Given the description of an element on the screen output the (x, y) to click on. 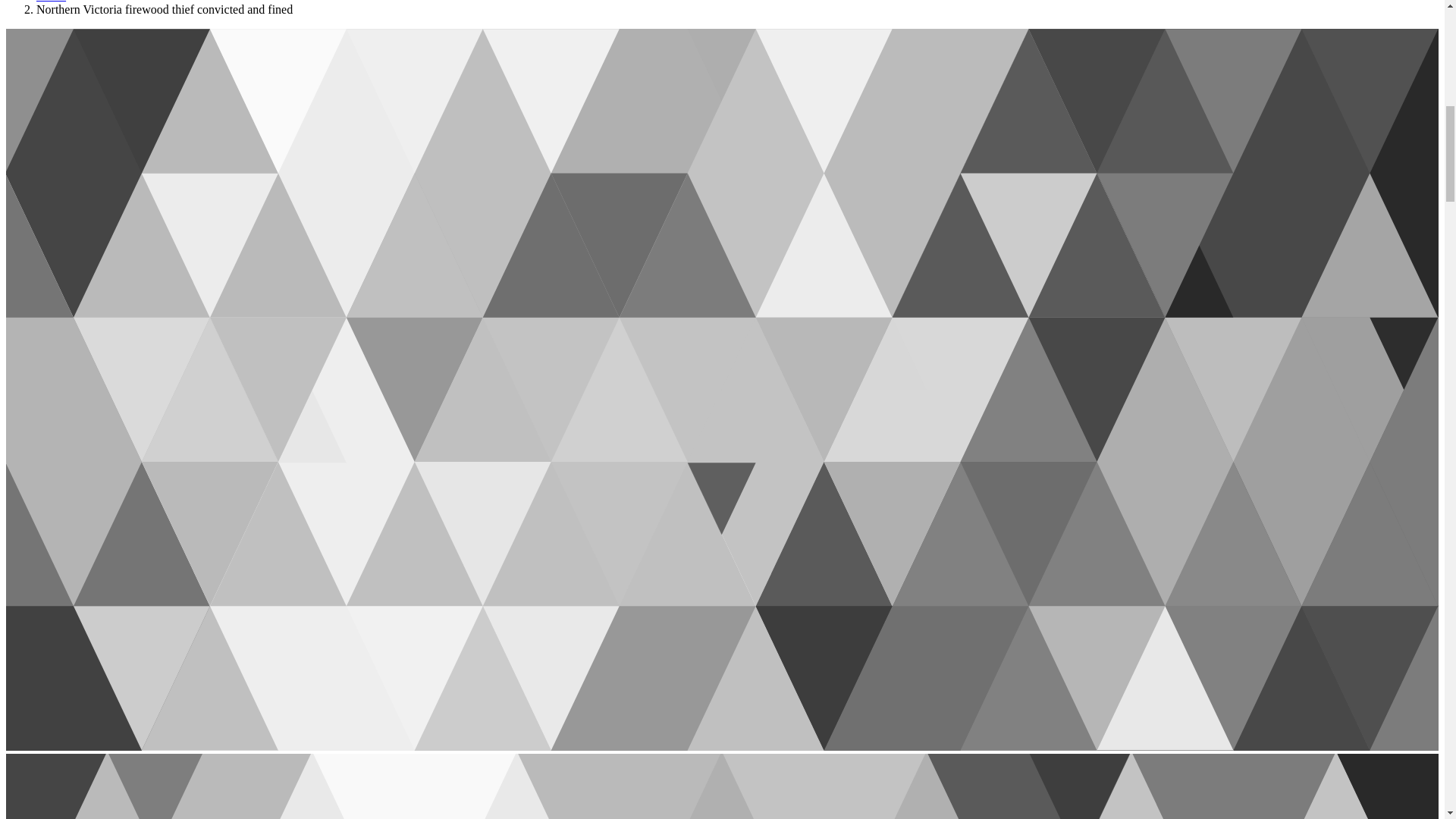
Home (50, 1)
